Given the description of an element on the screen output the (x, y) to click on. 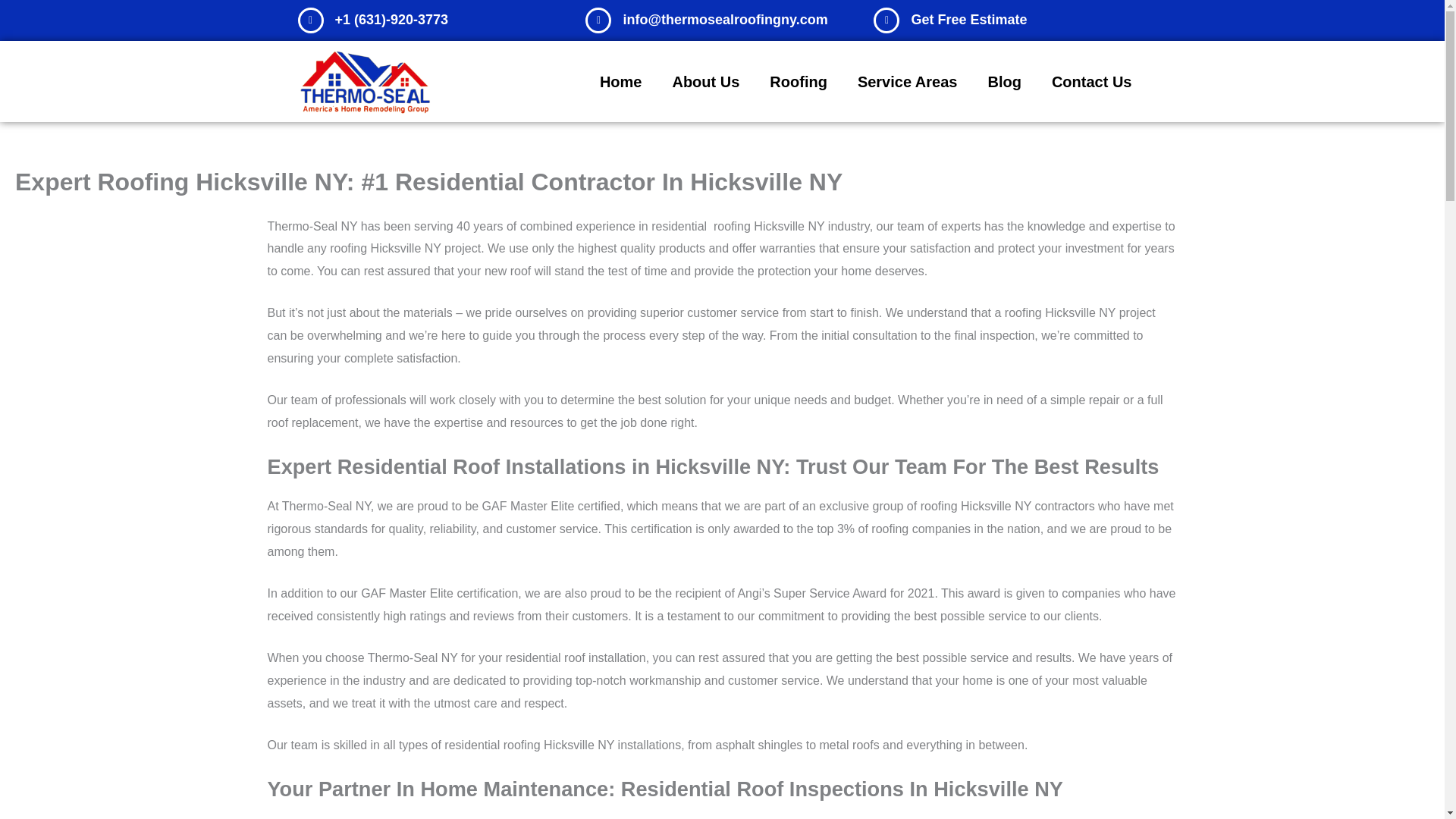
Blog (1003, 81)
Contact Us (1091, 81)
About Us (705, 81)
Home (621, 81)
Get Free Estimate (968, 19)
Roofing (798, 81)
Service Areas (907, 81)
